Given the description of an element on the screen output the (x, y) to click on. 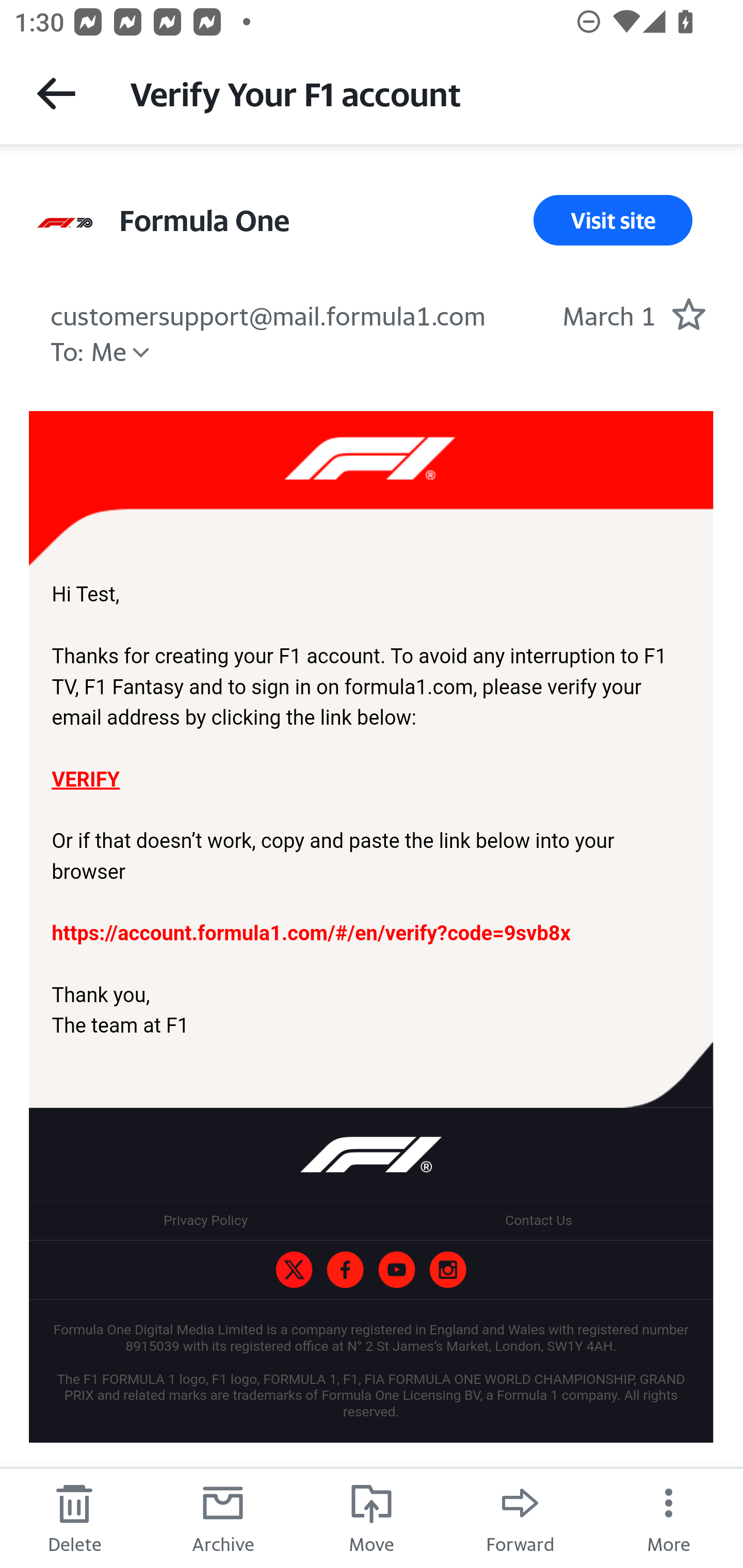
Back (55, 92)
View all messages from sender (64, 223)
Visit site Visit Site Link (612, 220)
Formula One Sender Formula One (203, 219)
Mark as starred. (688, 314)
F1 TV (370, 488)
VERIFY (85, 778)
Privacy Policy (205, 1219)
Contact Us (537, 1219)
F1 (293, 1270)
Formula1 (345, 1270)
Formula1 (396, 1270)
f1 (447, 1270)
Delete (74, 1517)
Archive (222, 1517)
Move (371, 1517)
Forward (519, 1517)
More (668, 1517)
